Given the description of an element on the screen output the (x, y) to click on. 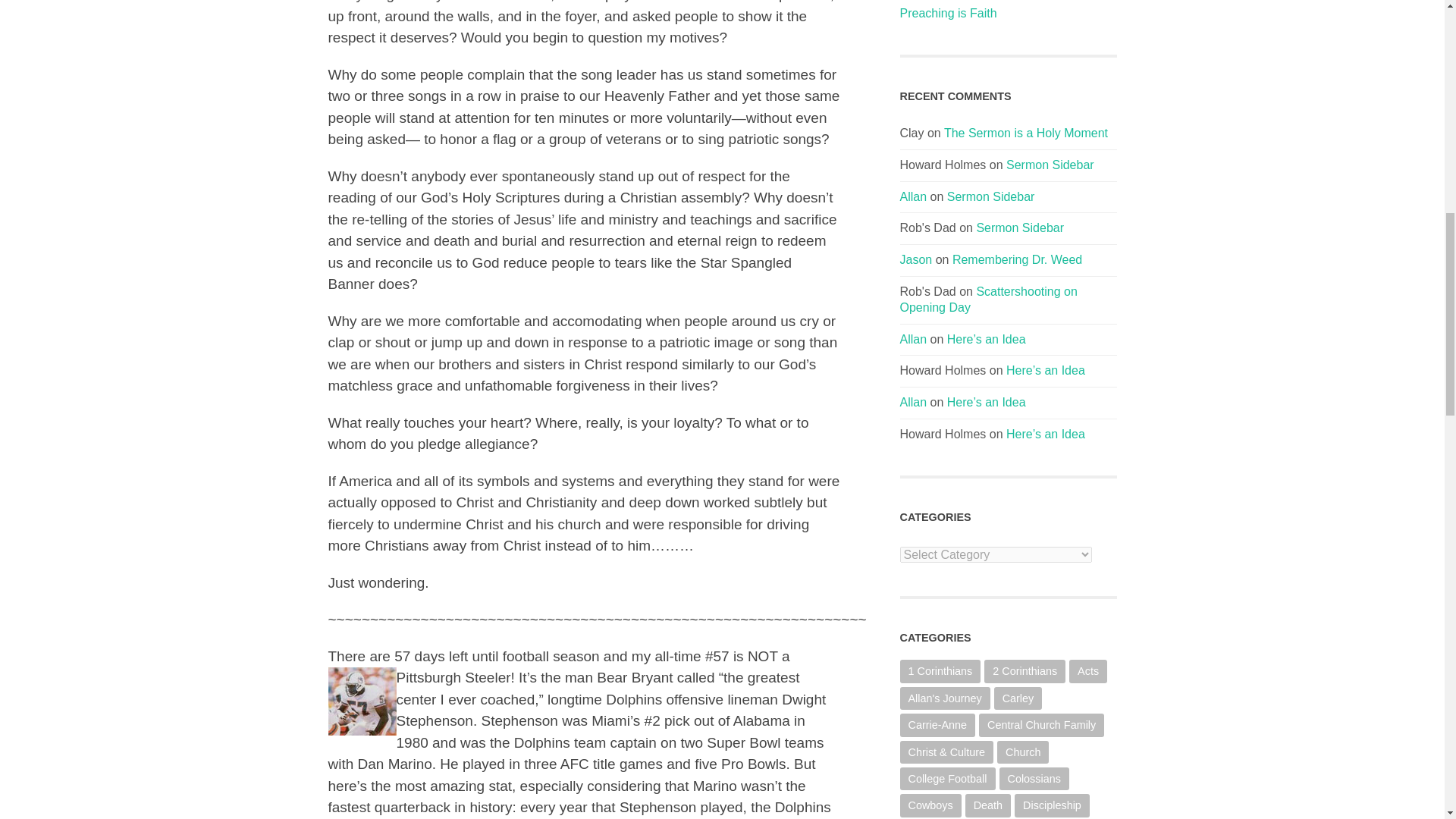
Scattershooting on Opening Day (988, 299)
Sermon Sidebar (1019, 227)
Remembering Dr. Weed (1016, 259)
DwightStephenson (361, 701)
Allan (912, 338)
Sermon Sidebar (991, 196)
Jason (915, 259)
Allan (912, 196)
Sermon Sidebar (1050, 164)
The Sermon is a Holy Moment (1025, 132)
